Given the description of an element on the screen output the (x, y) to click on. 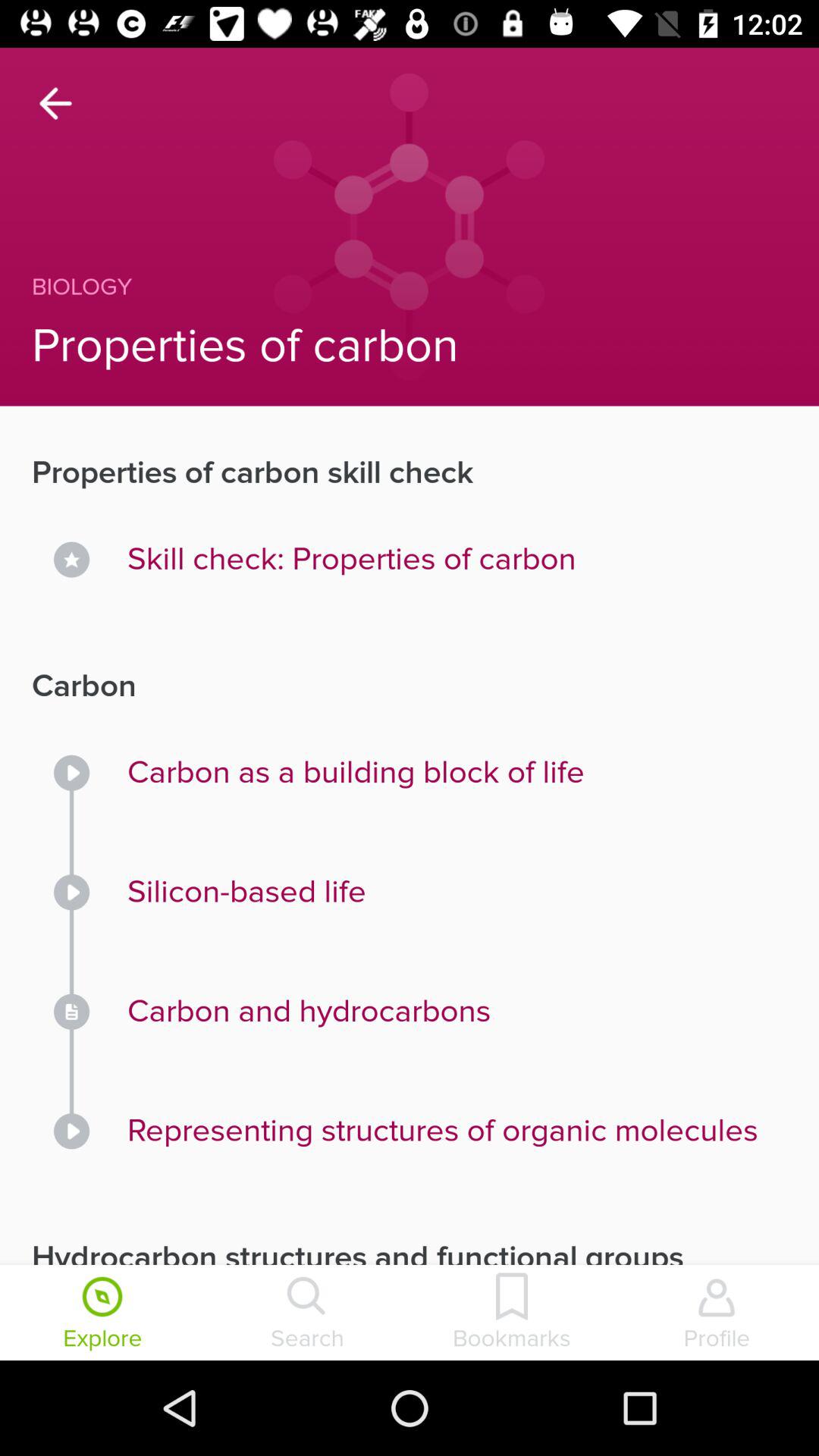
jump to biology (377, 286)
